Given the description of an element on the screen output the (x, y) to click on. 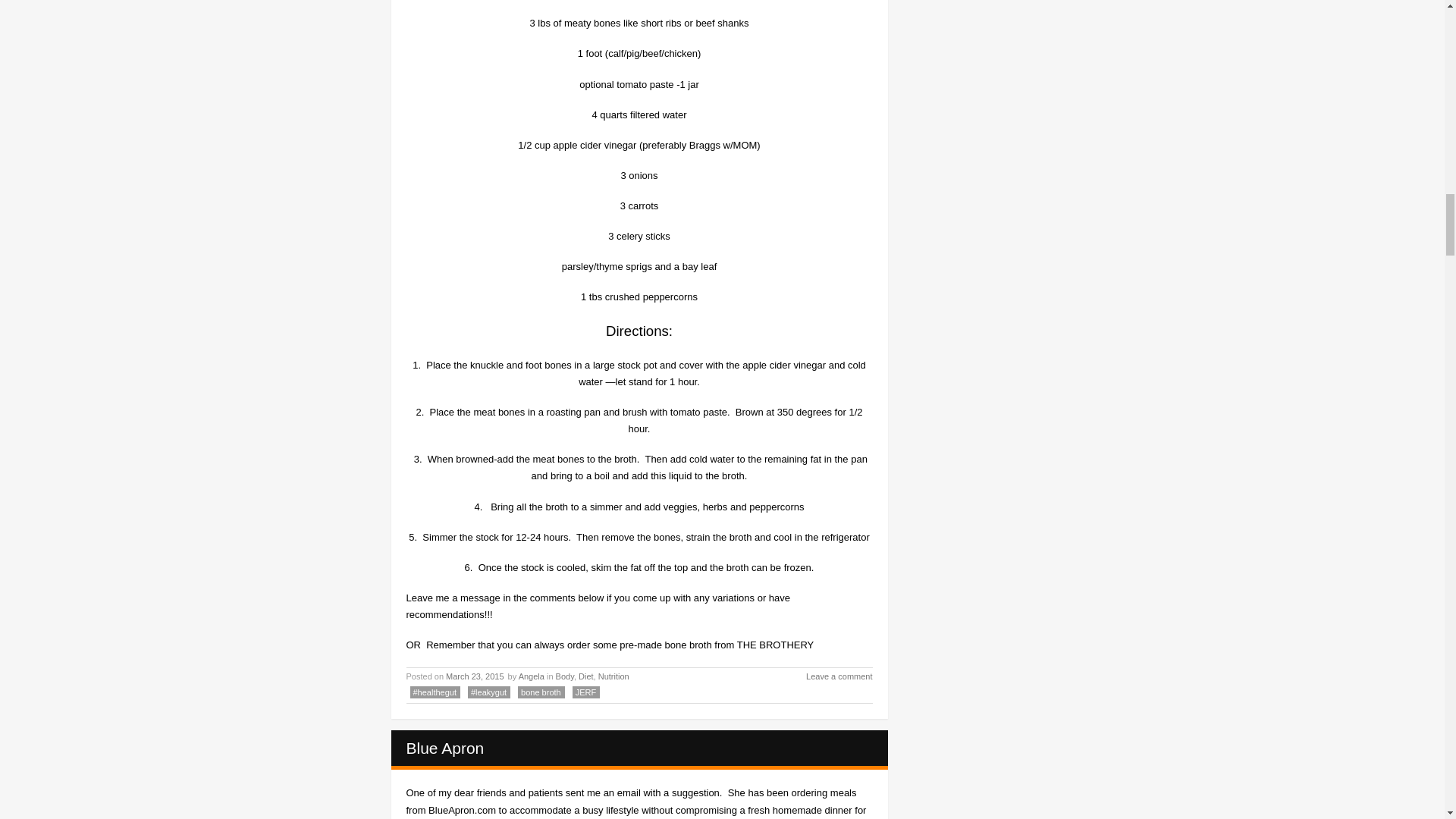
View all posts by Angela (531, 675)
March 23, 2015 (475, 675)
8:35 pm (475, 675)
Read Blue Apron (445, 747)
THE BROTHERY (774, 644)
